Given the description of an element on the screen output the (x, y) to click on. 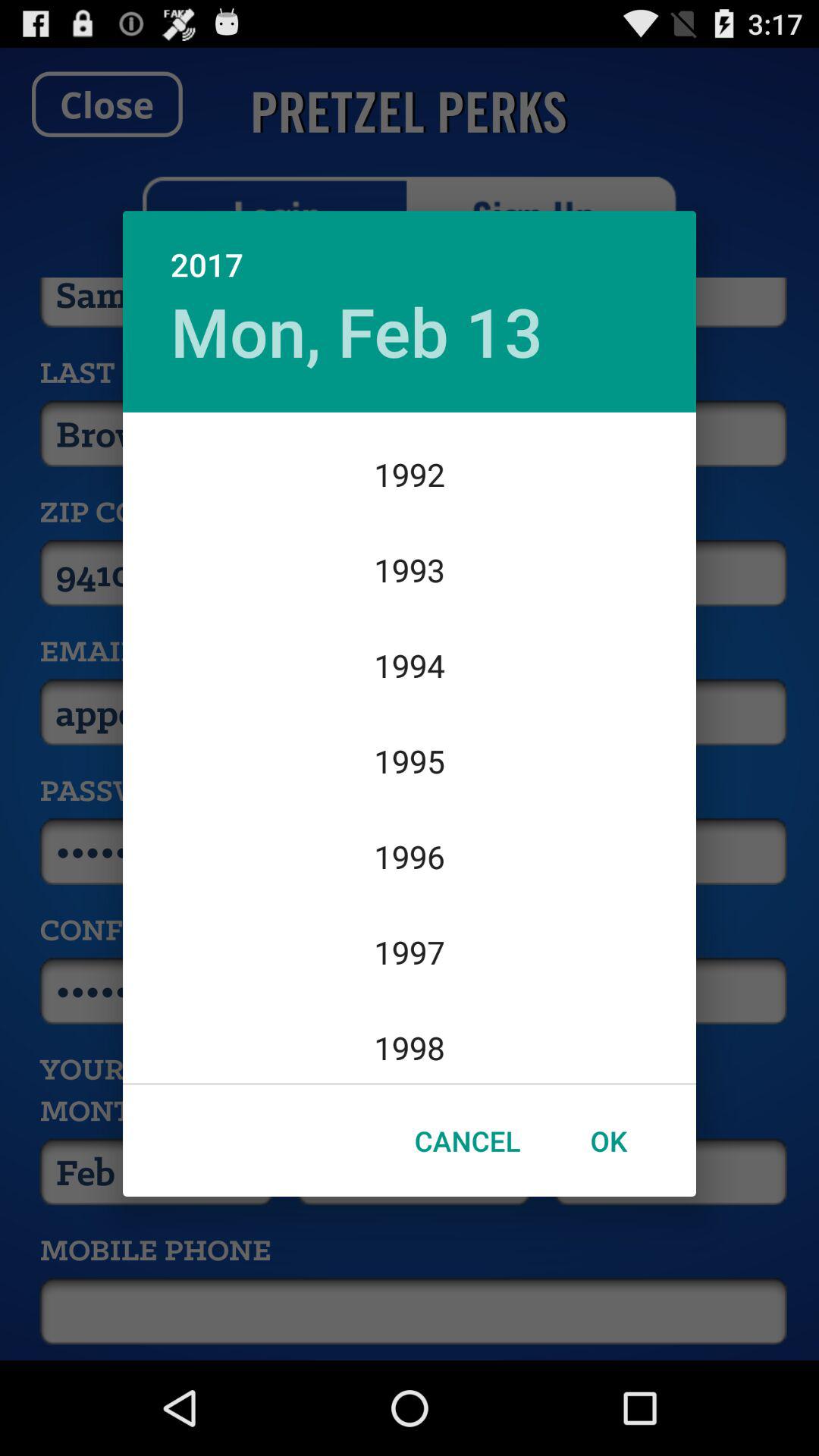
turn off 2017 item (409, 248)
